Given the description of an element on the screen output the (x, y) to click on. 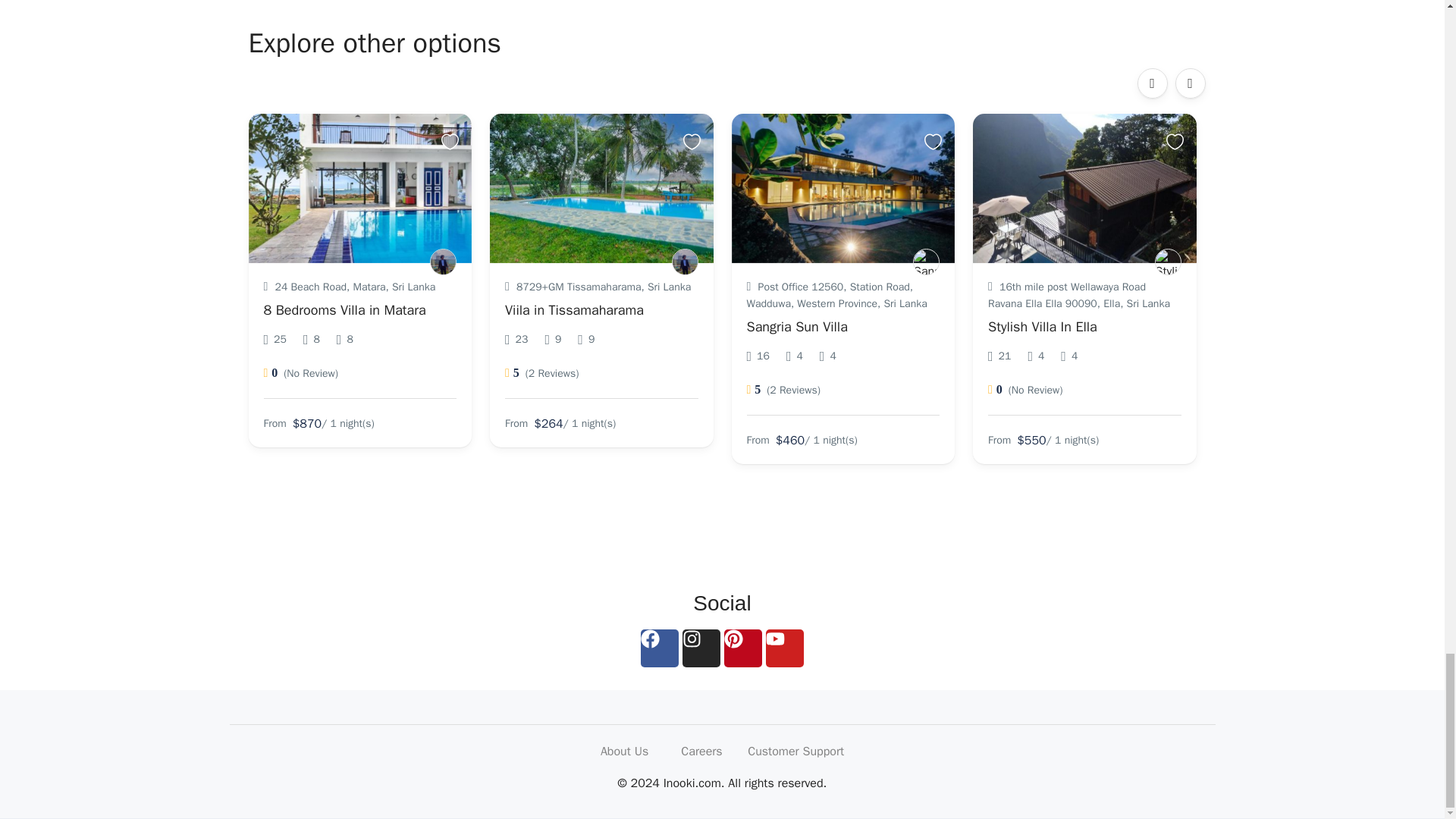
Dimuthu Nuwan De Zoysa (925, 261)
Add to wishlist (693, 141)
Add to wishlist (452, 141)
Chathurarya (443, 261)
Add to wishlist (935, 141)
Chathurarya (684, 261)
